Given the description of an element on the screen output the (x, y) to click on. 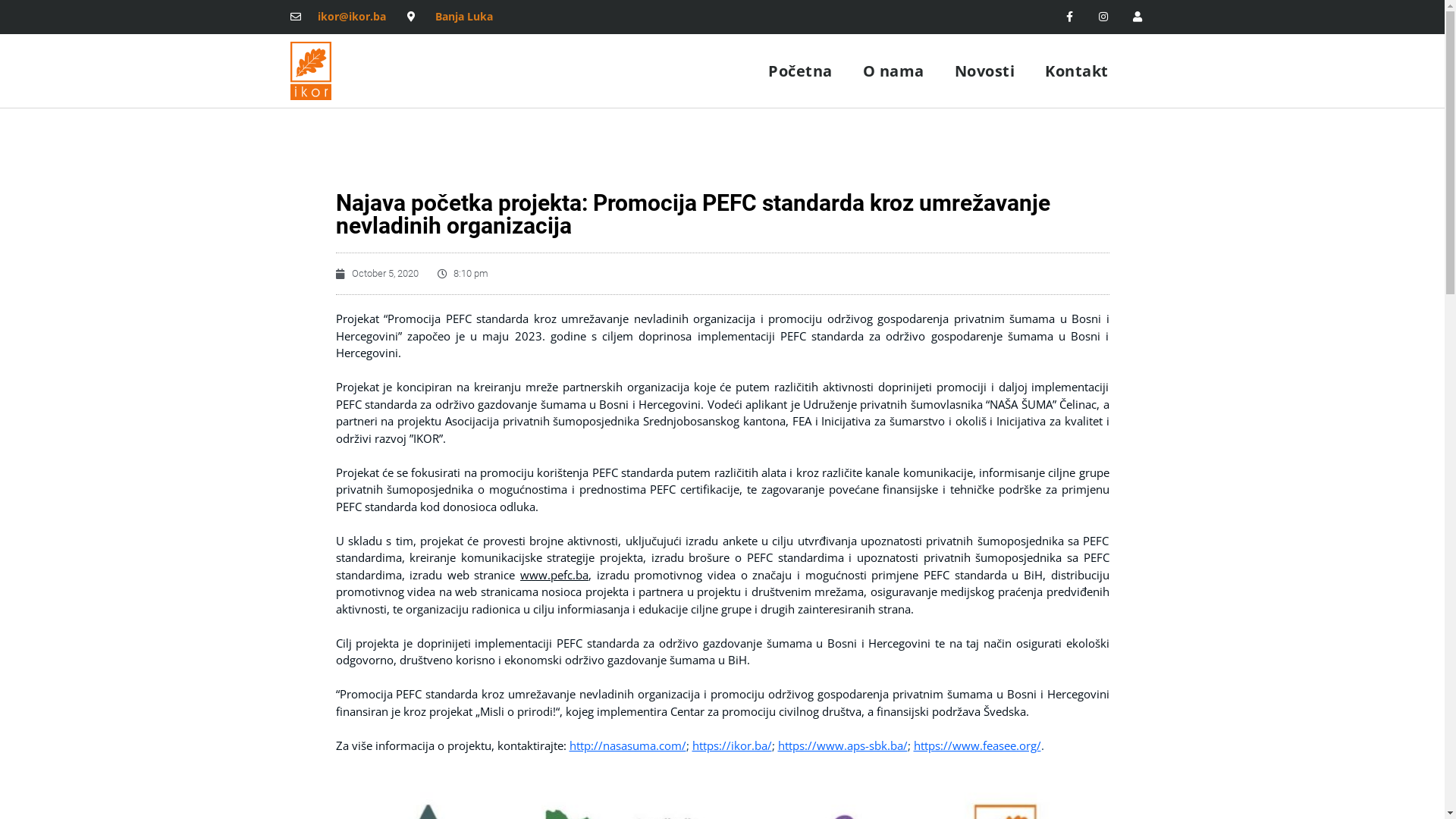
Kontakt Element type: text (1076, 71)
Novosti Element type: text (984, 71)
http://nasasuma.com/ Element type: text (626, 745)
https://www.aps-sbk.ba/ Element type: text (842, 745)
O nama Element type: text (893, 71)
https://www.feasee.org/ Element type: text (976, 745)
October 5, 2020 Element type: text (376, 273)
https://ikor.ba/ Element type: text (731, 745)
www.pefc.ba Element type: text (554, 574)
